Given the description of an element on the screen output the (x, y) to click on. 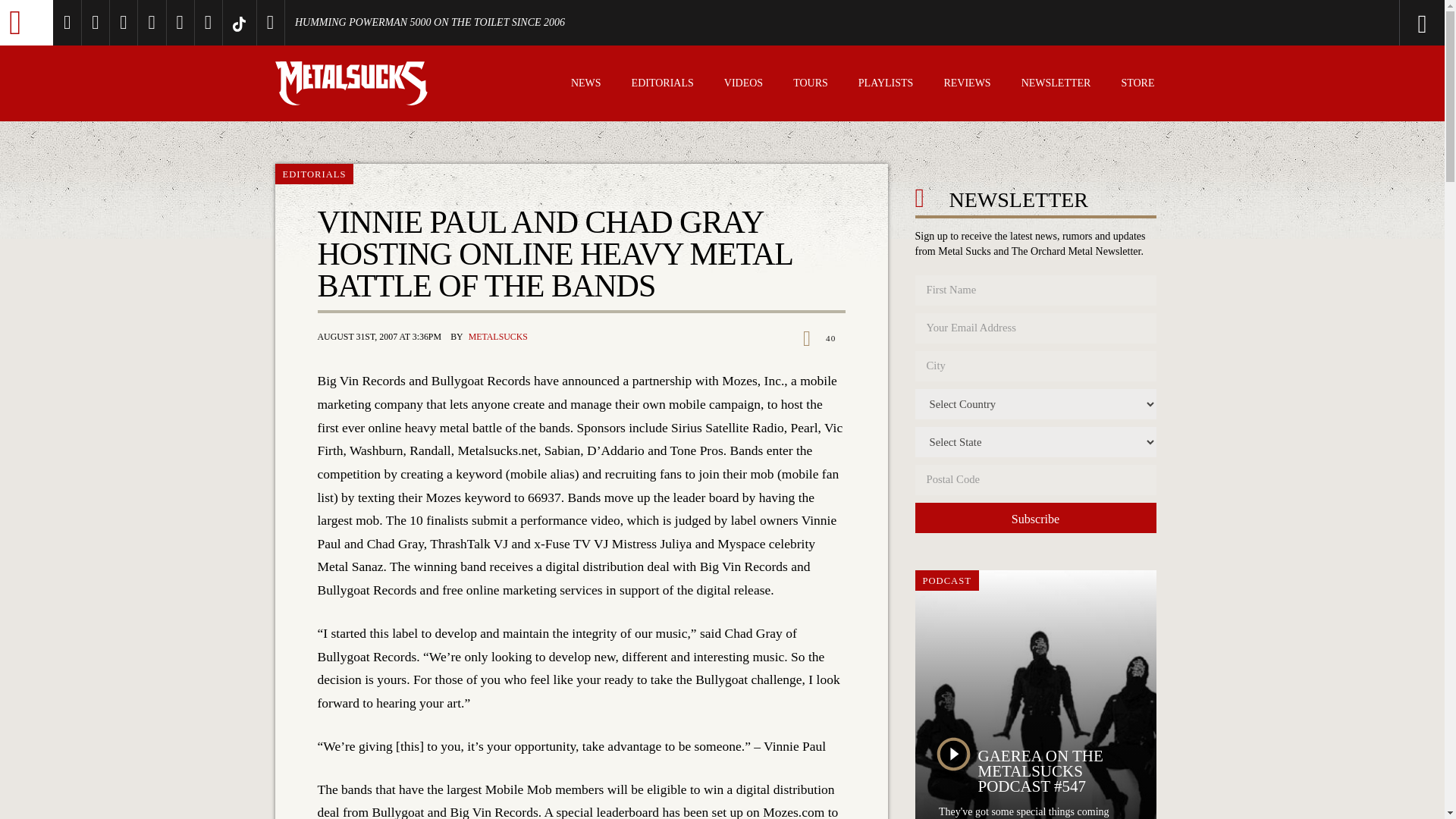
EDITORIALS (662, 84)
TOURS (810, 84)
NEWSLETTER (1056, 84)
EDITORIALS (314, 173)
STORE (1137, 84)
PLAYLISTS (886, 84)
Subscribe (1035, 517)
NEWS (585, 84)
VIDEOS (742, 84)
Search (1361, 22)
REVIEWS (966, 84)
Metal Sucks (26, 22)
